Given the description of an element on the screen output the (x, y) to click on. 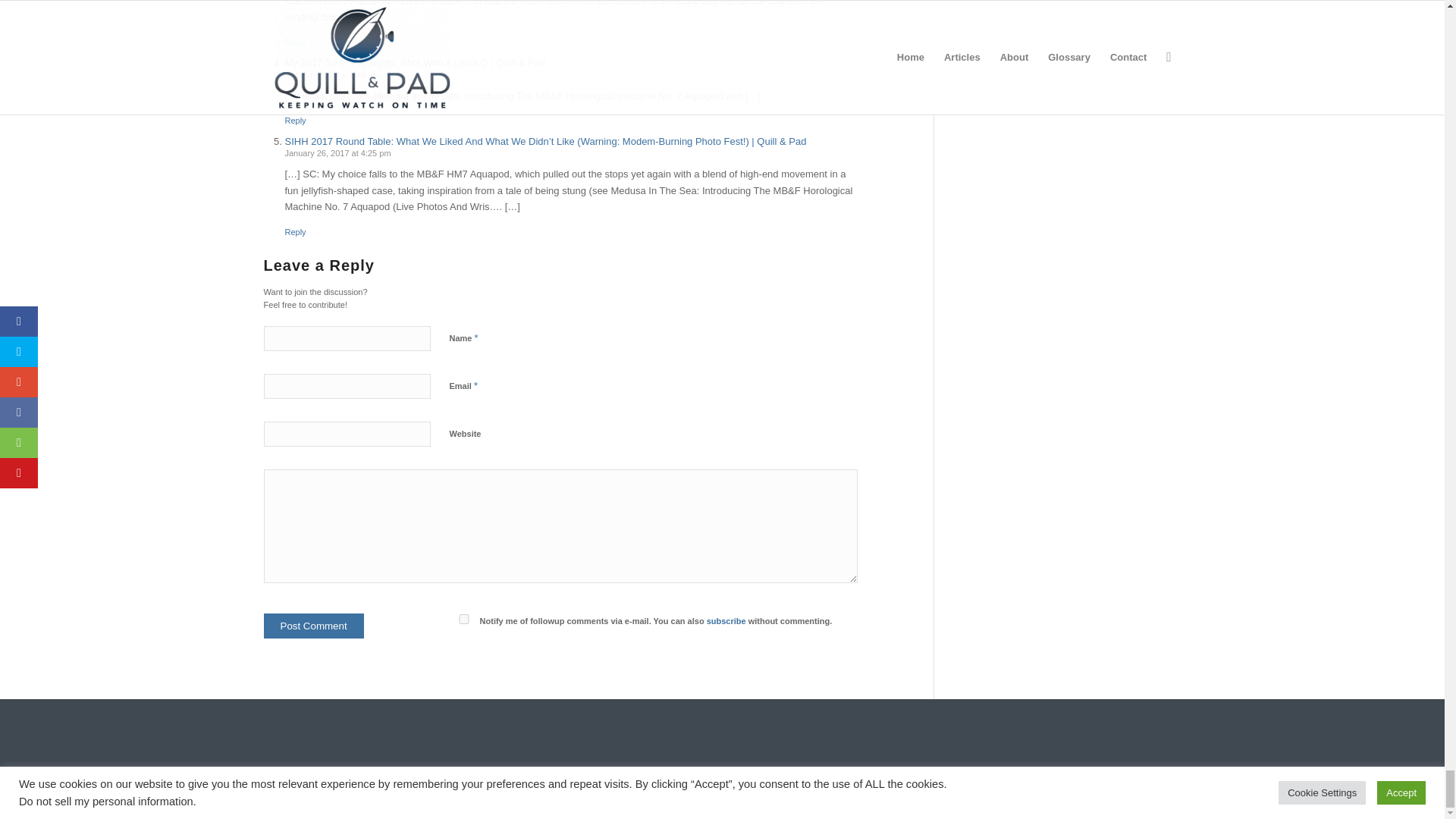
Post Comment (313, 625)
January 26, 2017 at 4:25 pm (338, 153)
yes (462, 619)
Reply (295, 41)
Reply (295, 231)
Post Comment (313, 625)
Reply (295, 120)
March 8, 2017 at 6:40 pm (332, 74)
subscribe (725, 620)
